Given the description of an element on the screen output the (x, y) to click on. 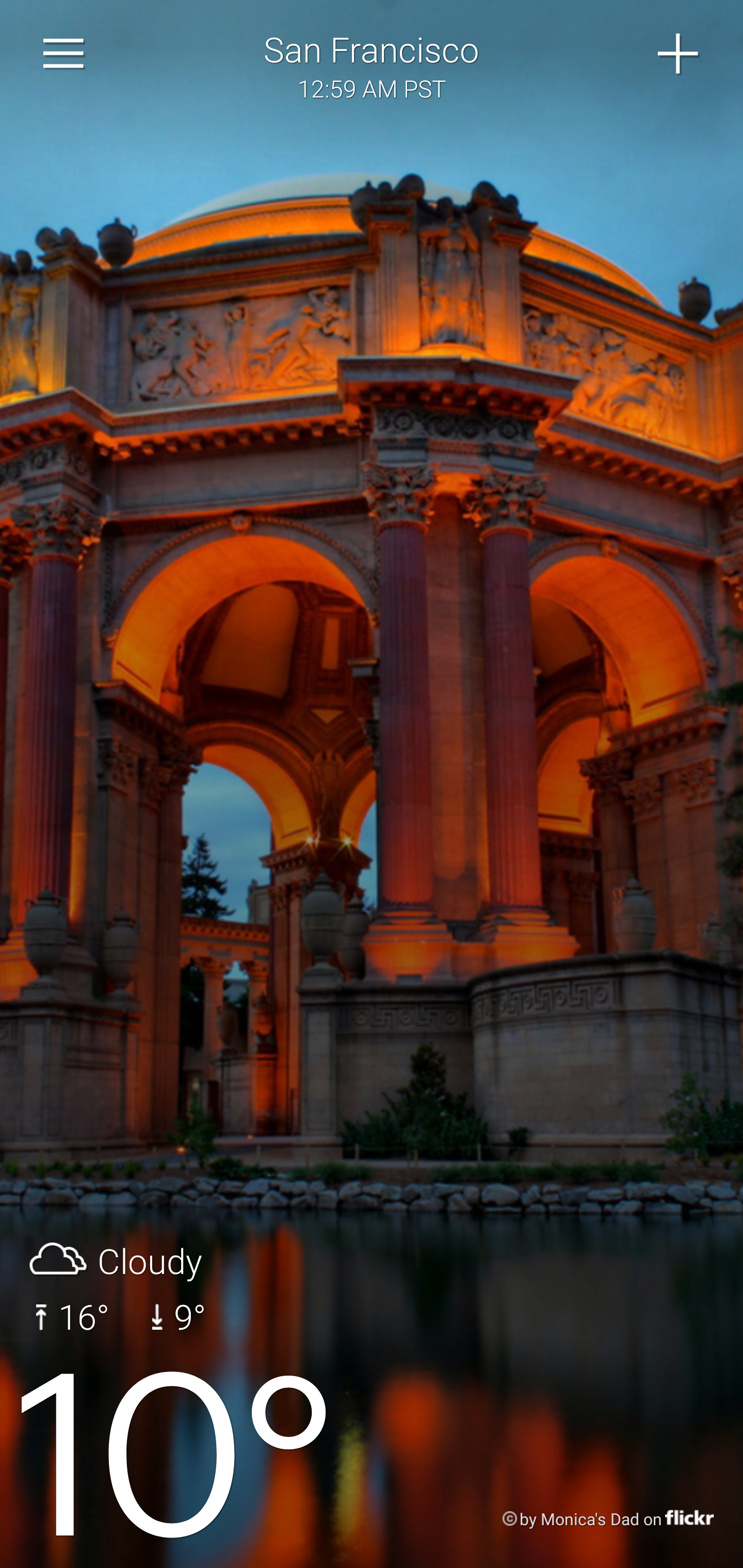
Sidebar (64, 54)
Add City (678, 53)
